Given the description of an element on the screen output the (x, y) to click on. 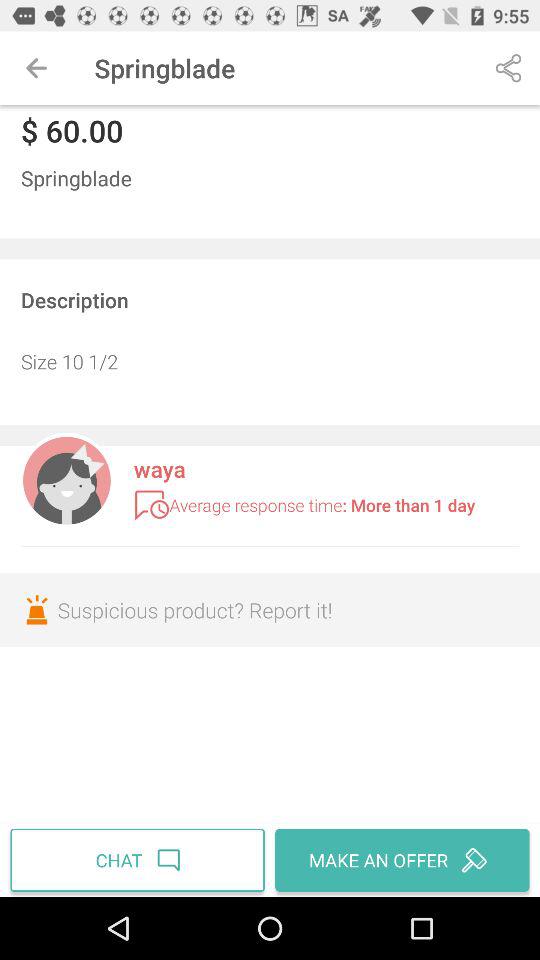
flip to the chat icon (139, 860)
